Given the description of an element on the screen output the (x, y) to click on. 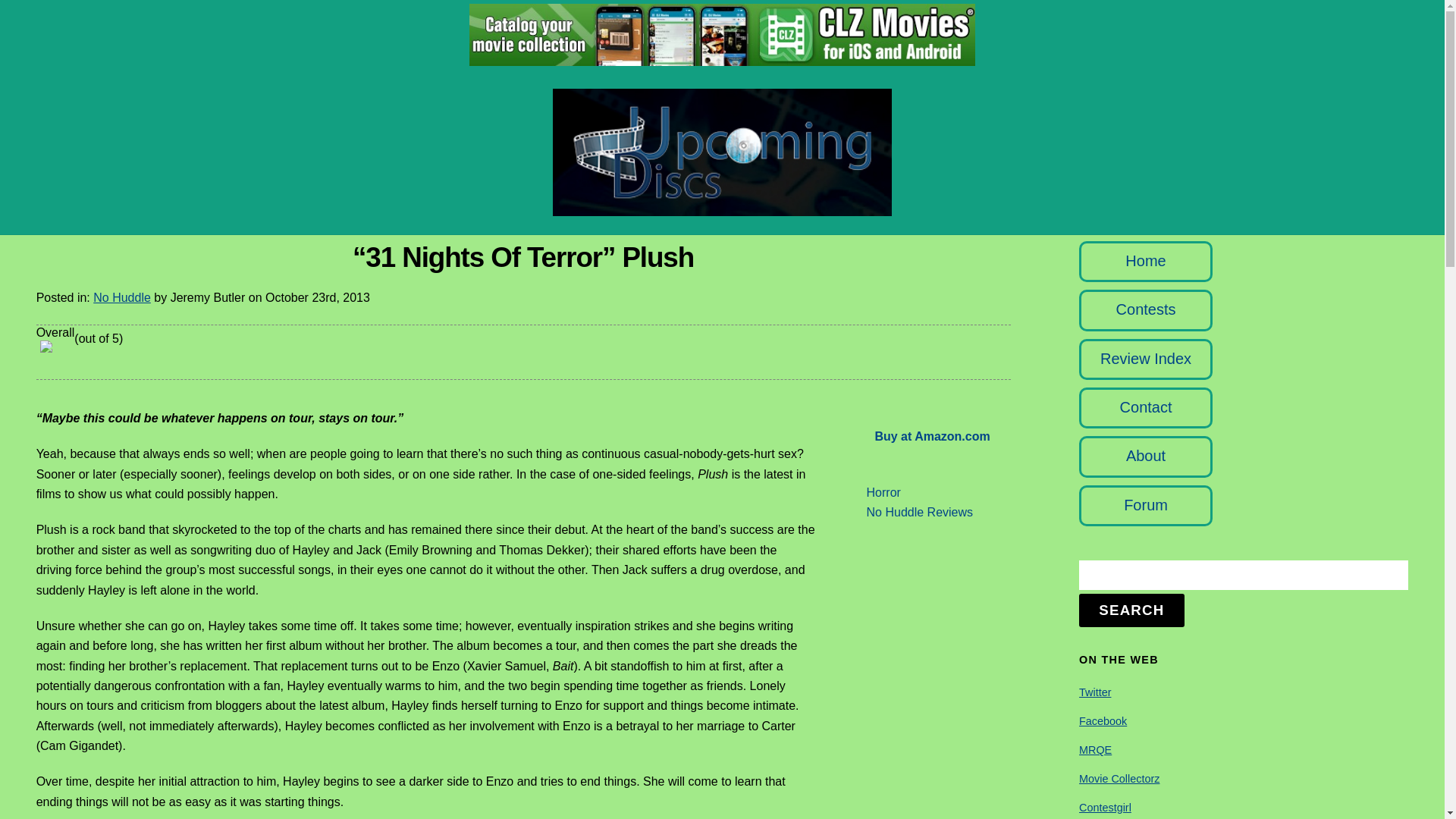
Contests (1146, 309)
Contact (1145, 406)
Review Index (1145, 358)
Twitter (1094, 692)
Contestgirl (1104, 807)
Movie Collectorz (1118, 778)
Home (1145, 260)
About (1145, 455)
Horror (883, 492)
SEARCH (1131, 609)
No Huddle Reviews (920, 512)
Search (1242, 574)
UpcomingDiscs.com (722, 208)
MRQE (1095, 749)
Facebook (1102, 720)
